Given the description of an element on the screen output the (x, y) to click on. 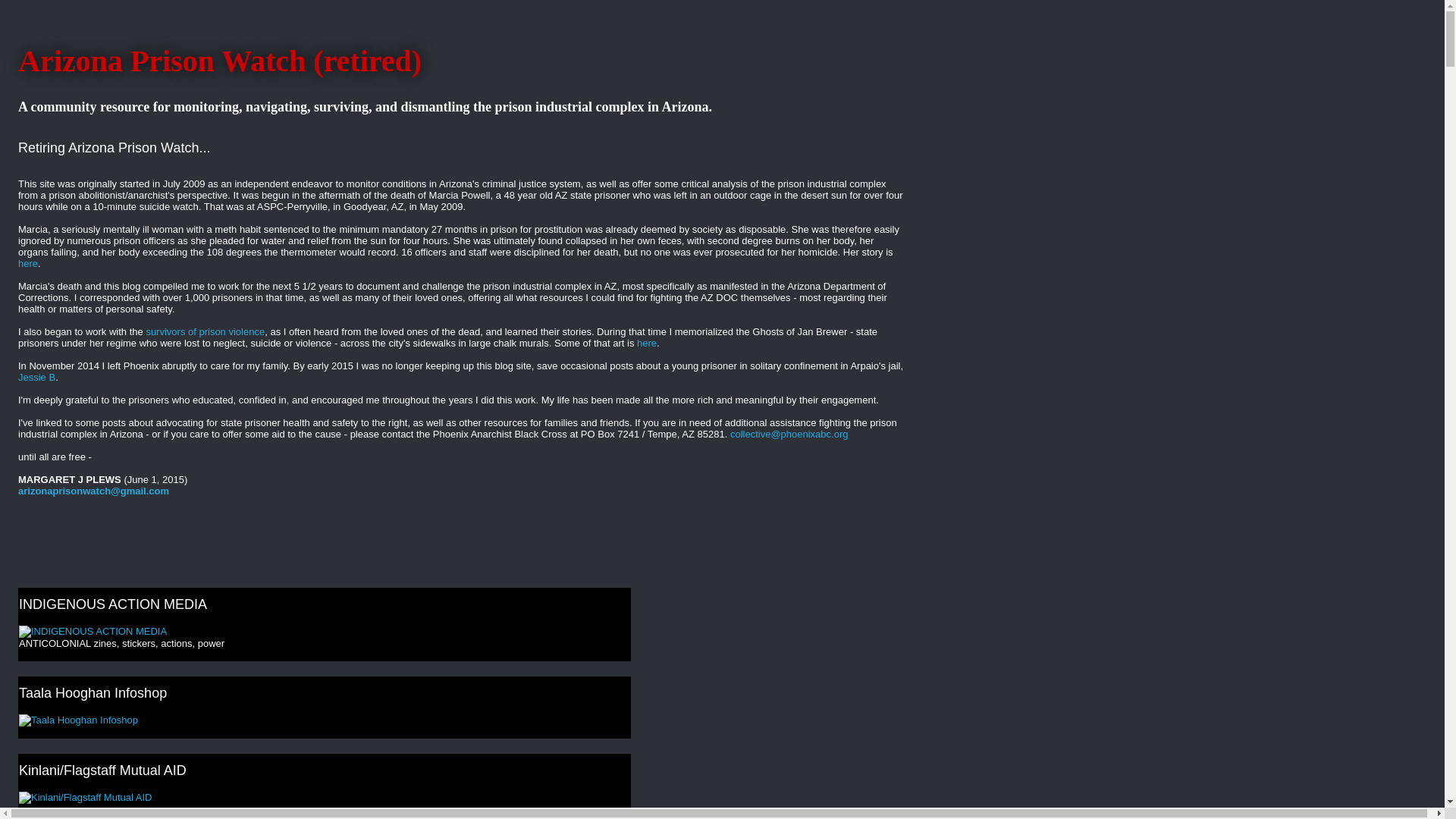
here (27, 263)
here (646, 342)
survivors of prison violence (204, 331)
Jessie B (36, 377)
